Given the description of an element on the screen output the (x, y) to click on. 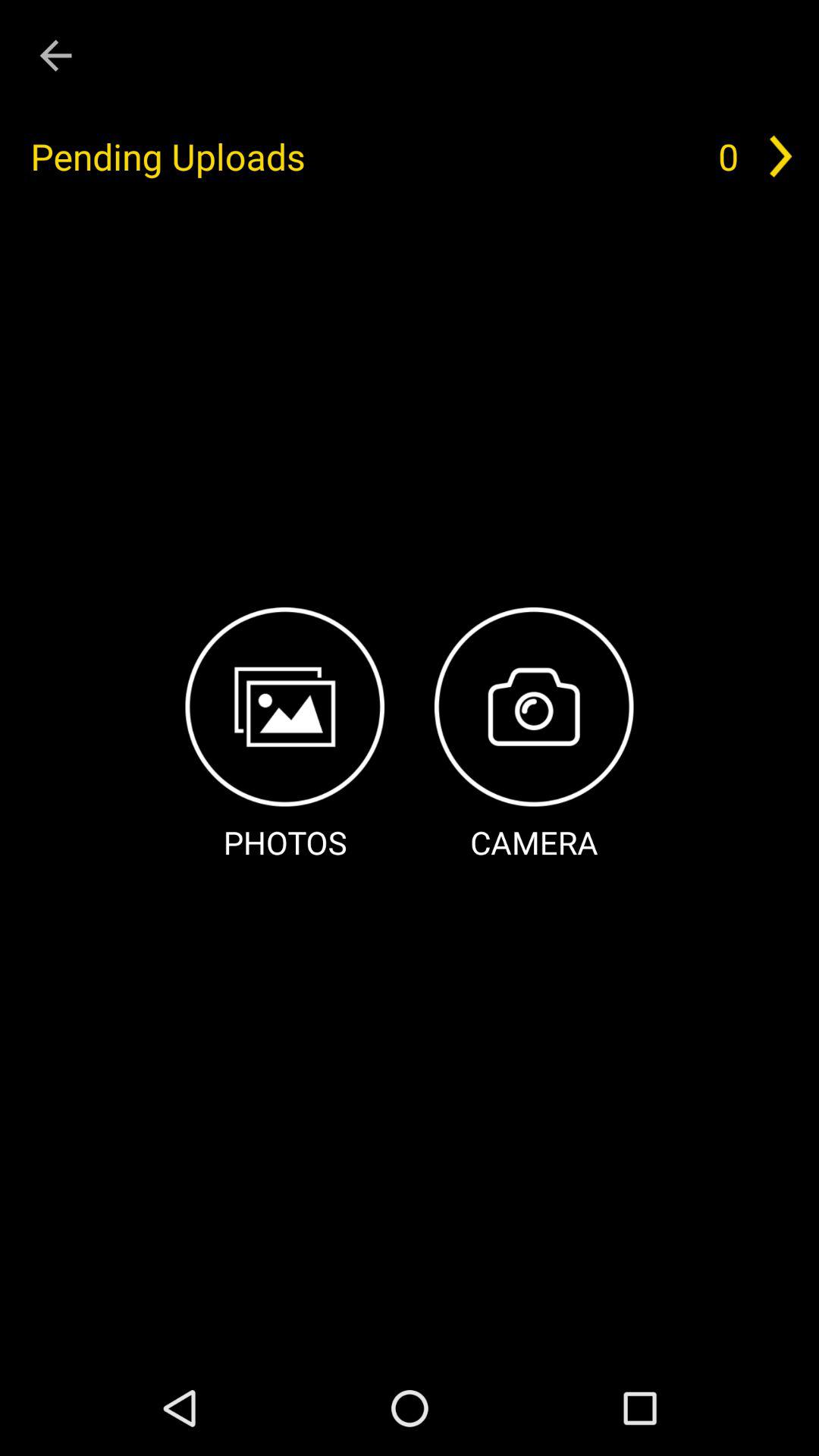
choose icon next to camera (284, 735)
